Given the description of an element on the screen output the (x, y) to click on. 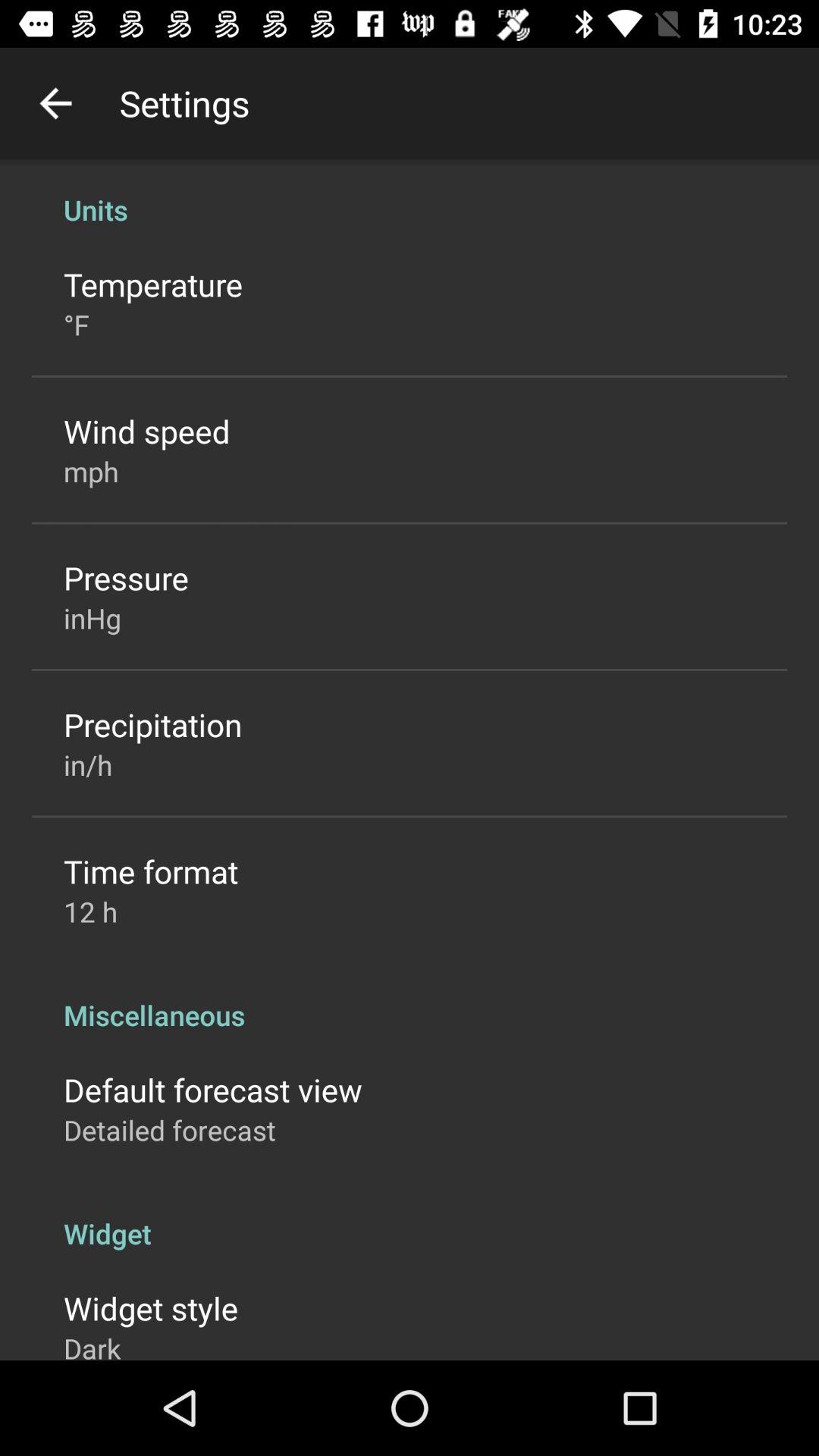
launch item next to settings (55, 103)
